Given the description of an element on the screen output the (x, y) to click on. 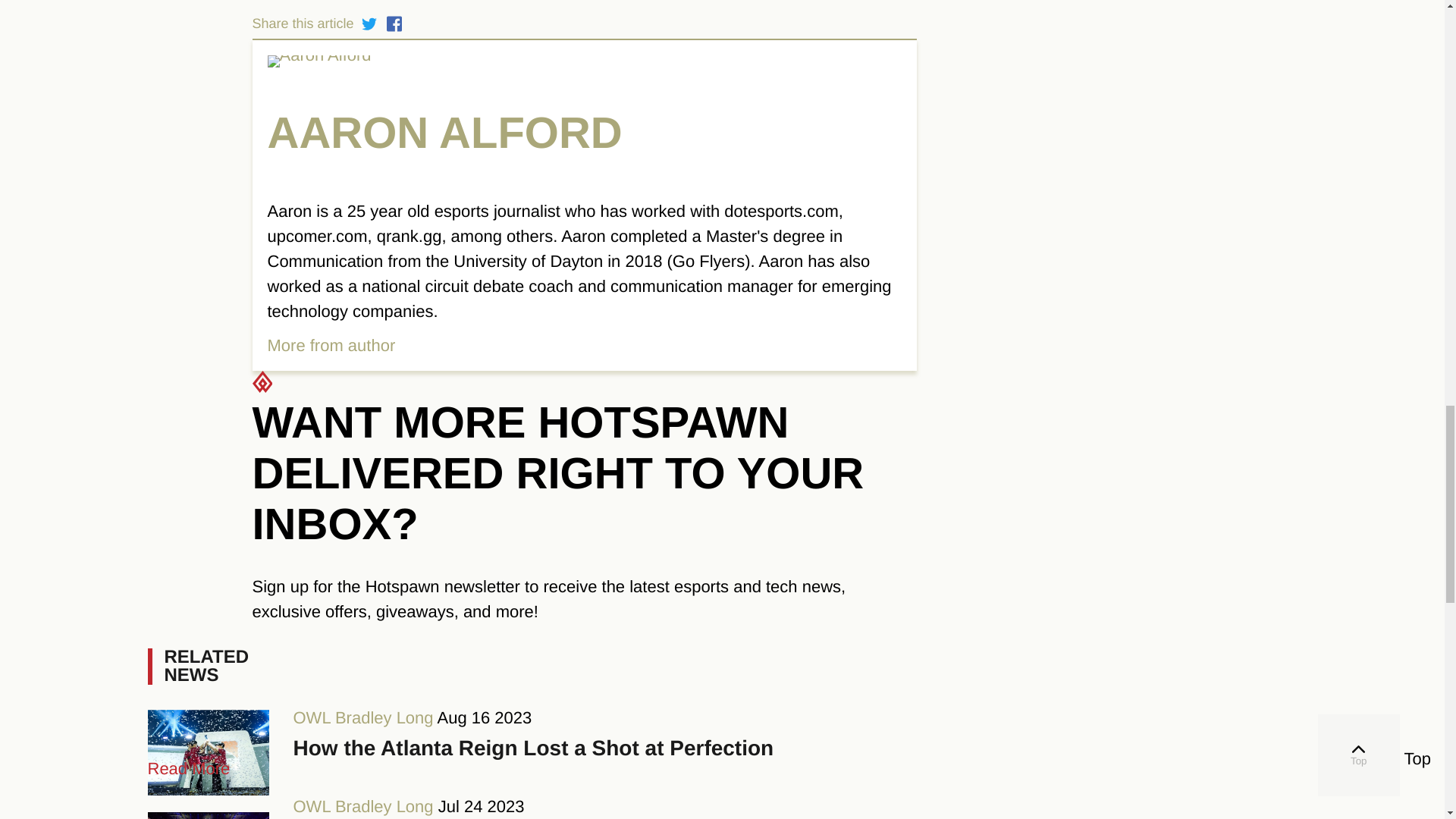
Read More (330, 344)
Bradley Long (383, 717)
Aaron Alford (583, 139)
Wed, 16 Aug 2023 23:21:00 (483, 717)
See More OWL (311, 717)
Aaron Alford (583, 61)
